Given the description of an element on the screen output the (x, y) to click on. 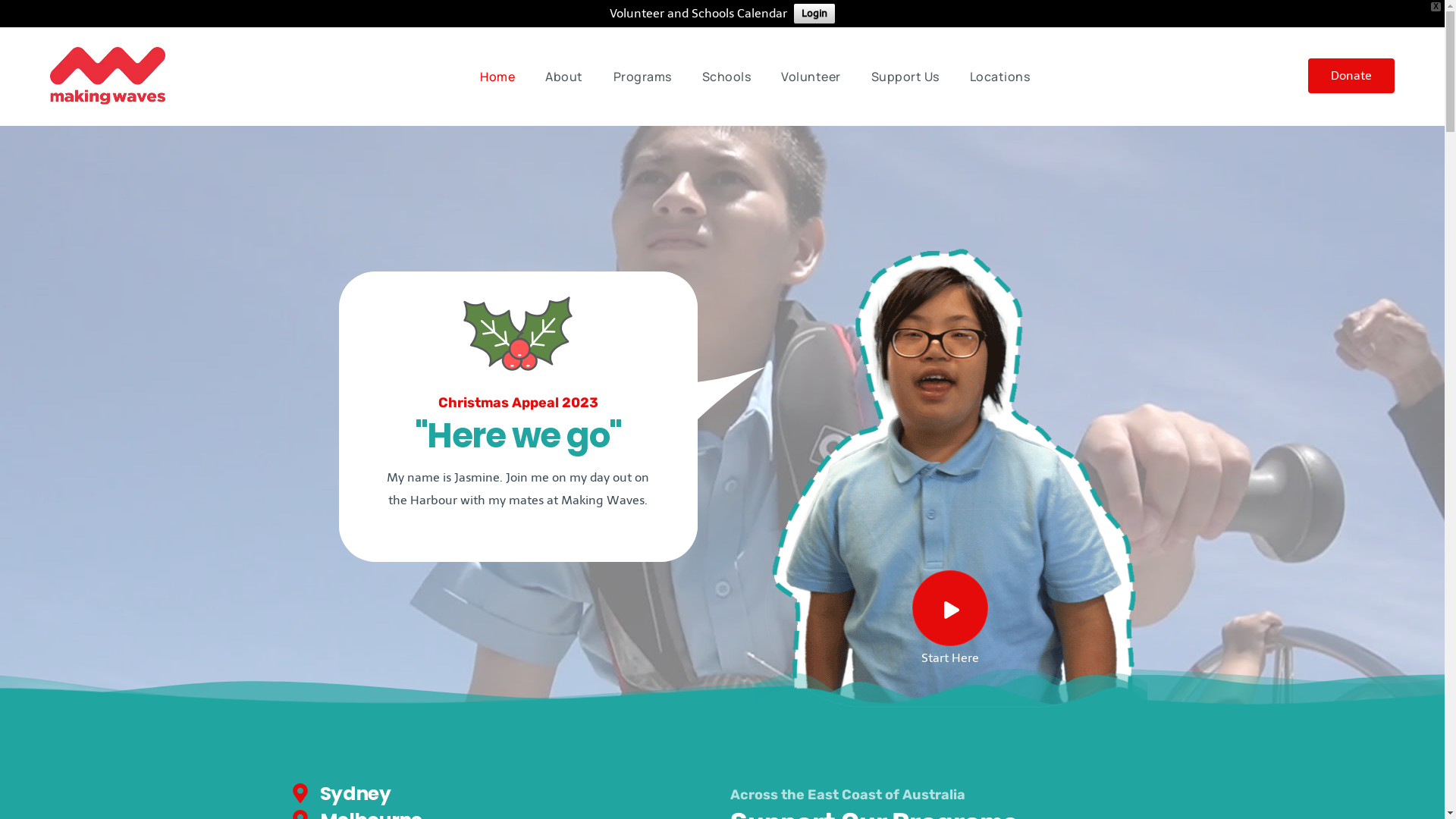
Login Element type: text (813, 13)
Schools Element type: text (726, 76)
Donate Element type: text (1351, 75)
Volunteer Element type: text (810, 76)
Locations Element type: text (999, 76)
Programs Element type: text (642, 76)
Home Element type: text (497, 76)
Support Us Element type: text (905, 76)
About Element type: text (564, 76)
